Given the description of an element on the screen output the (x, y) to click on. 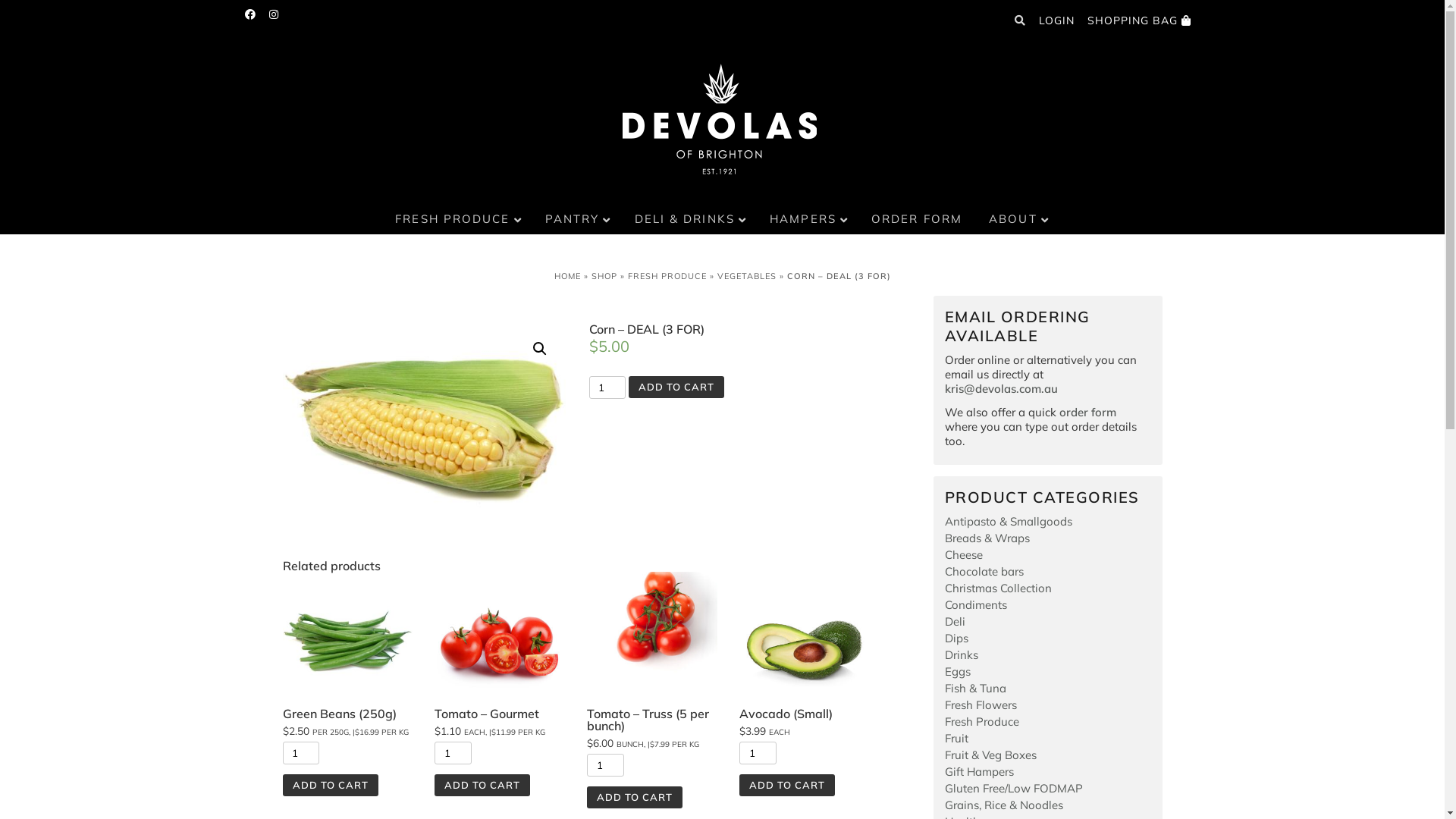
Gift Hampers Element type: text (978, 771)
ORDER FORM Element type: text (918, 219)
Green Beans (250g)
$2.50 PER 250G, |$16.99 PER KG Element type: text (346, 653)
PANTRY Element type: text (578, 219)
ADD TO CART Element type: text (786, 785)
Deli Element type: text (954, 621)
ADD TO CART Element type: text (634, 797)
Avocado (Small)
$3.99 EACH Element type: text (804, 653)
VEGETABLES Element type: text (746, 275)
Gluten Free/Low FODMAP Element type: text (1013, 788)
SHOP Element type: text (604, 275)
Breads & Wraps Element type: text (986, 537)
LOGIN Element type: text (1056, 20)
HOME Element type: text (566, 275)
FRESH PRODUCE Element type: text (666, 275)
Grains, Rice & Noodles Element type: text (1003, 804)
Fruit Element type: text (956, 738)
ADD TO CART Element type: text (329, 785)
Fruit & Veg Boxes Element type: text (990, 754)
Sweet Corn Element type: hover (423, 429)
Christmas Collection Element type: text (997, 587)
kris@devolas.com.au Element type: text (1000, 388)
Chocolate bars Element type: text (983, 571)
SKIP TO CONTENT Element type: text (306, 210)
ADD TO CART Element type: text (482, 785)
Eggs Element type: text (957, 671)
Drinks Element type: text (961, 654)
HAMPERS Element type: text (808, 219)
Fish & Tuna Element type: text (975, 687)
FRESH PRODUCE Element type: text (458, 219)
Condiments Element type: text (975, 604)
Dips Element type: text (956, 637)
order form Element type: text (1087, 411)
Antipasto & Smallgoods Element type: text (1008, 521)
Cheese Element type: text (963, 554)
DELI & DRINKS Element type: text (690, 219)
Fresh Produce Element type: text (981, 721)
ADD TO CART Element type: text (676, 387)
Fresh Flowers Element type: text (980, 704)
SHOPPING BAG Element type: text (1139, 20)
ABOUT Element type: text (1018, 219)
Search Element type: text (26, 13)
